Given the description of an element on the screen output the (x, y) to click on. 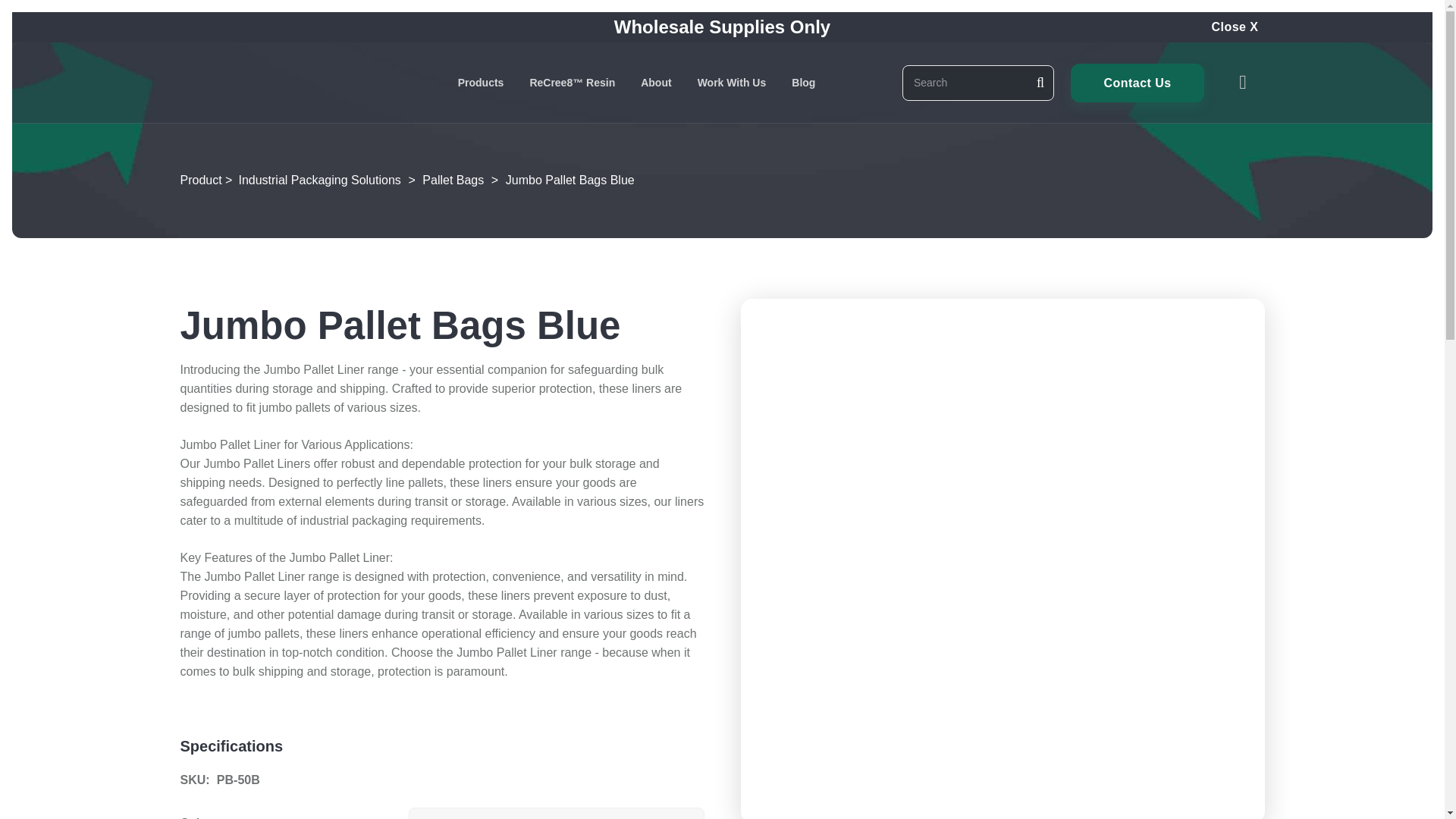
Industrial Packaging Solutions (319, 179)
Work With Us (731, 82)
Pallet Bags (452, 179)
Product (201, 179)
Close X (1234, 26)
Contact Us (1137, 82)
